Given the description of an element on the screen output the (x, y) to click on. 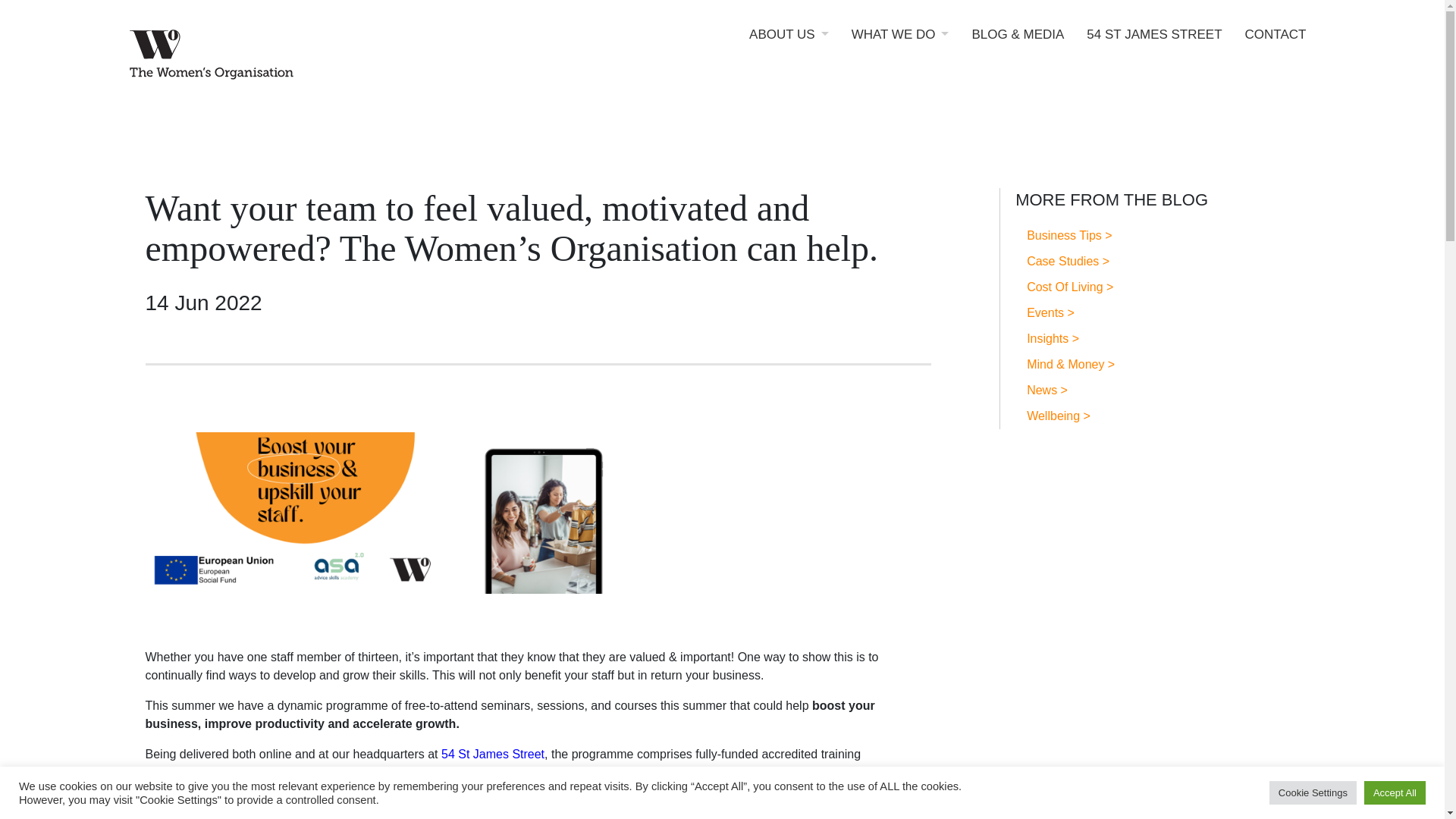
54 St James Street (492, 753)
What We Do (900, 46)
54 ST JAMES STREET (1153, 46)
About Us (788, 46)
WHAT WE DO (900, 46)
The Womens Organisation (267, 57)
CONTACT (1275, 46)
ABOUT US (788, 46)
